Given the description of an element on the screen output the (x, y) to click on. 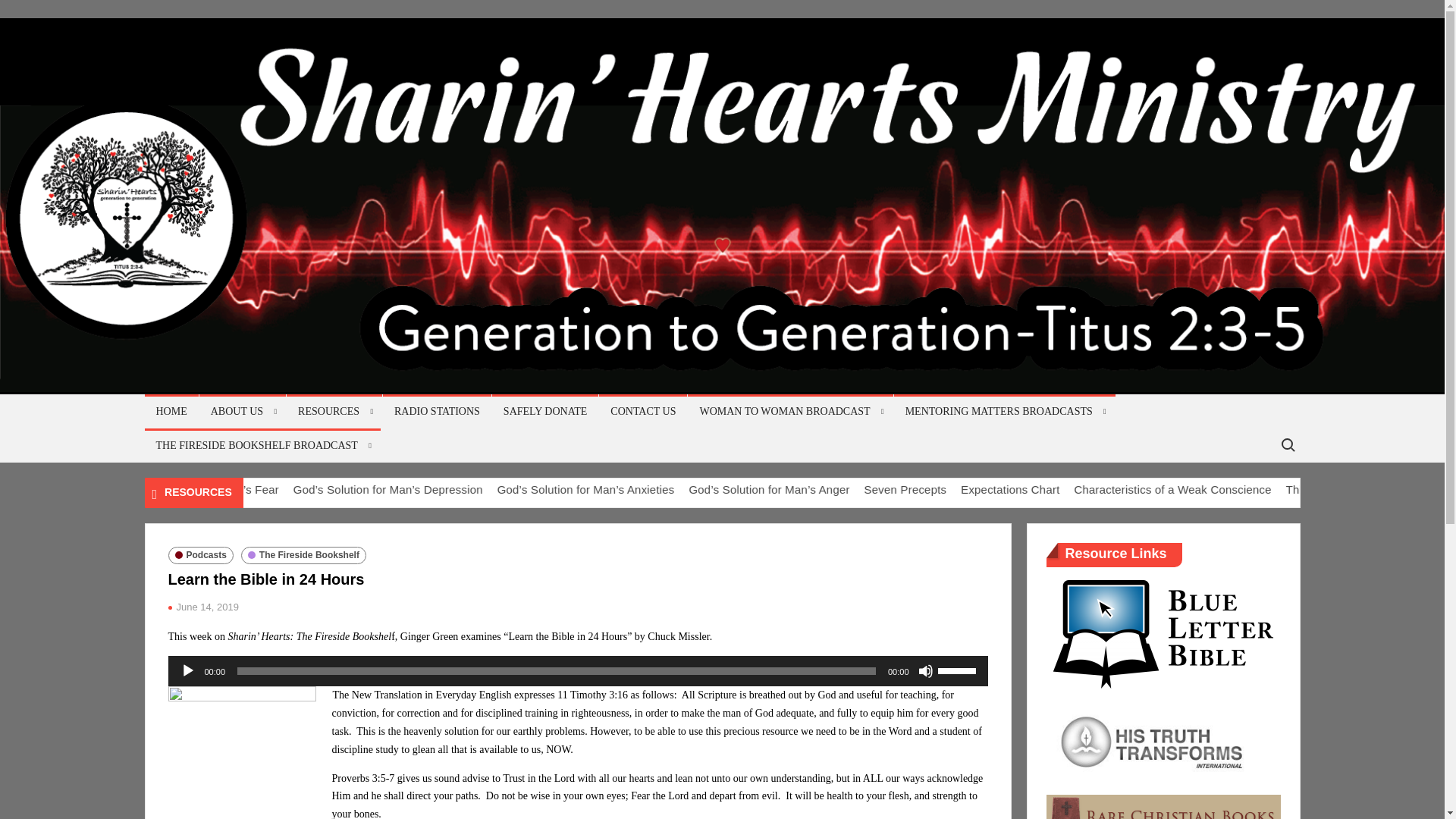
Expectations Chart (1107, 489)
Characteristics of a Weak Conscience (1268, 489)
Seven Precepts (1003, 489)
